Given the description of an element on the screen output the (x, y) to click on. 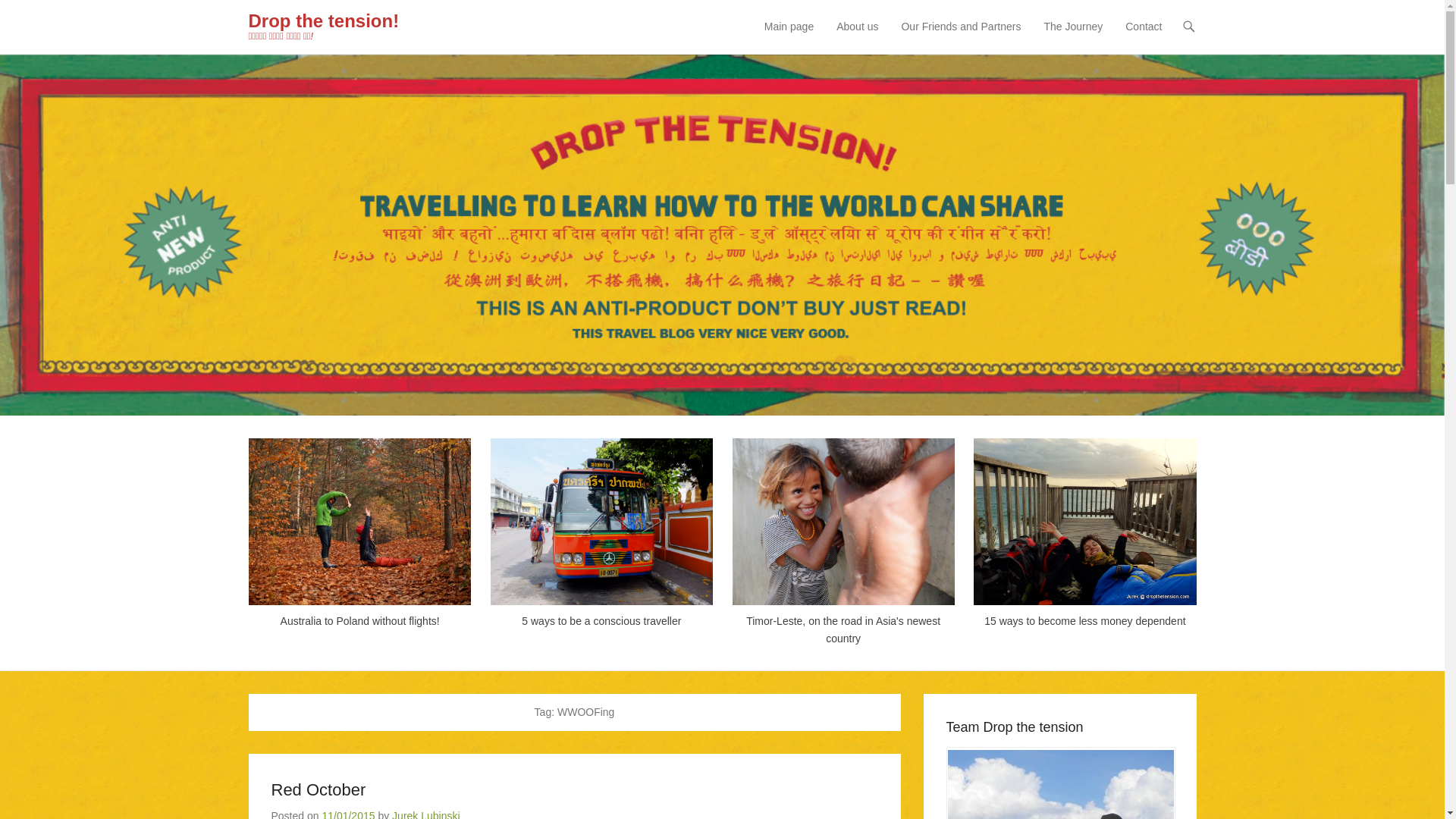
About us (856, 35)
The Journey (1072, 35)
View all posts by Jurek Lubinski (425, 814)
Permalink to Red October (318, 789)
20:13 (347, 814)
Drop the tension! (323, 20)
Our Friends and Partners (960, 35)
Red October (318, 789)
Jurek Lubinski (425, 814)
Contact (1143, 35)
